Given the description of an element on the screen output the (x, y) to click on. 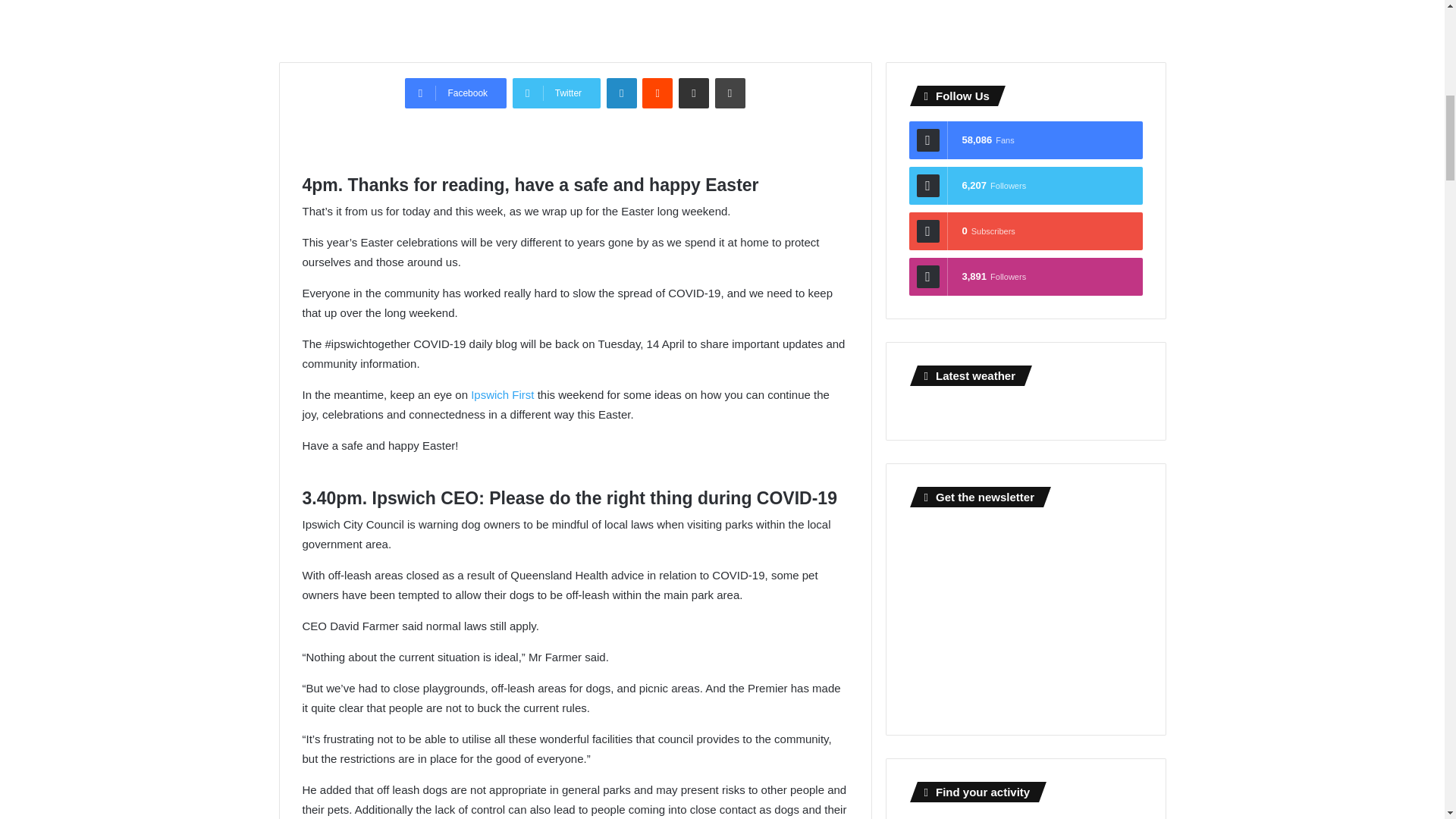
Twitter (555, 92)
Facebook (455, 92)
Share via Email (693, 92)
Reddit (657, 92)
Reddit (657, 92)
Facebook (455, 92)
Share via Email (693, 92)
LinkedIn (622, 92)
Print (729, 92)
Twitter (555, 92)
LinkedIn (622, 92)
